Given the description of an element on the screen output the (x, y) to click on. 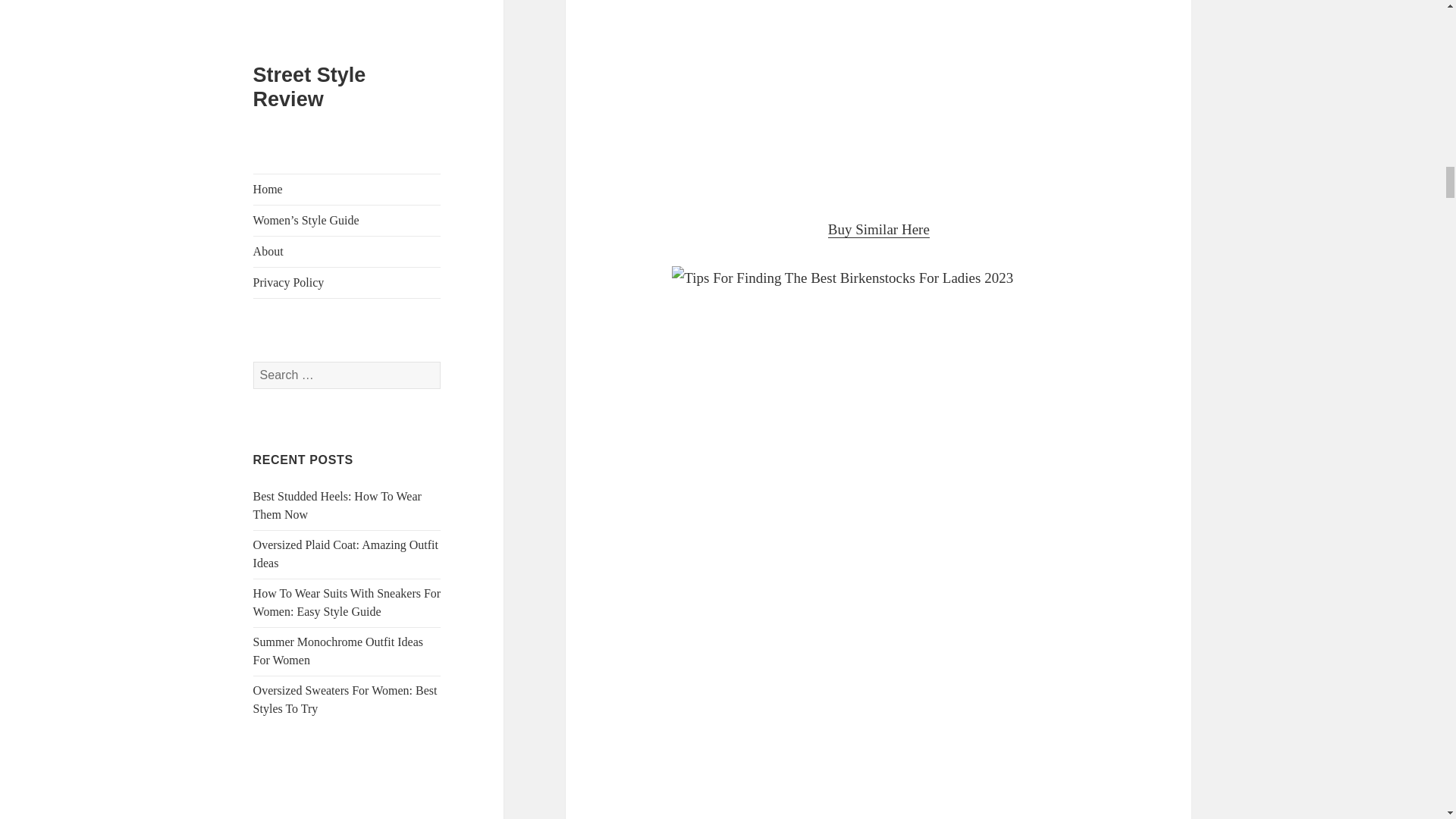
Buy Similar Here (879, 229)
Tips For Finding The Best Birkenstocks For Ladies 2023 (878, 97)
